Given the description of an element on the screen output the (x, y) to click on. 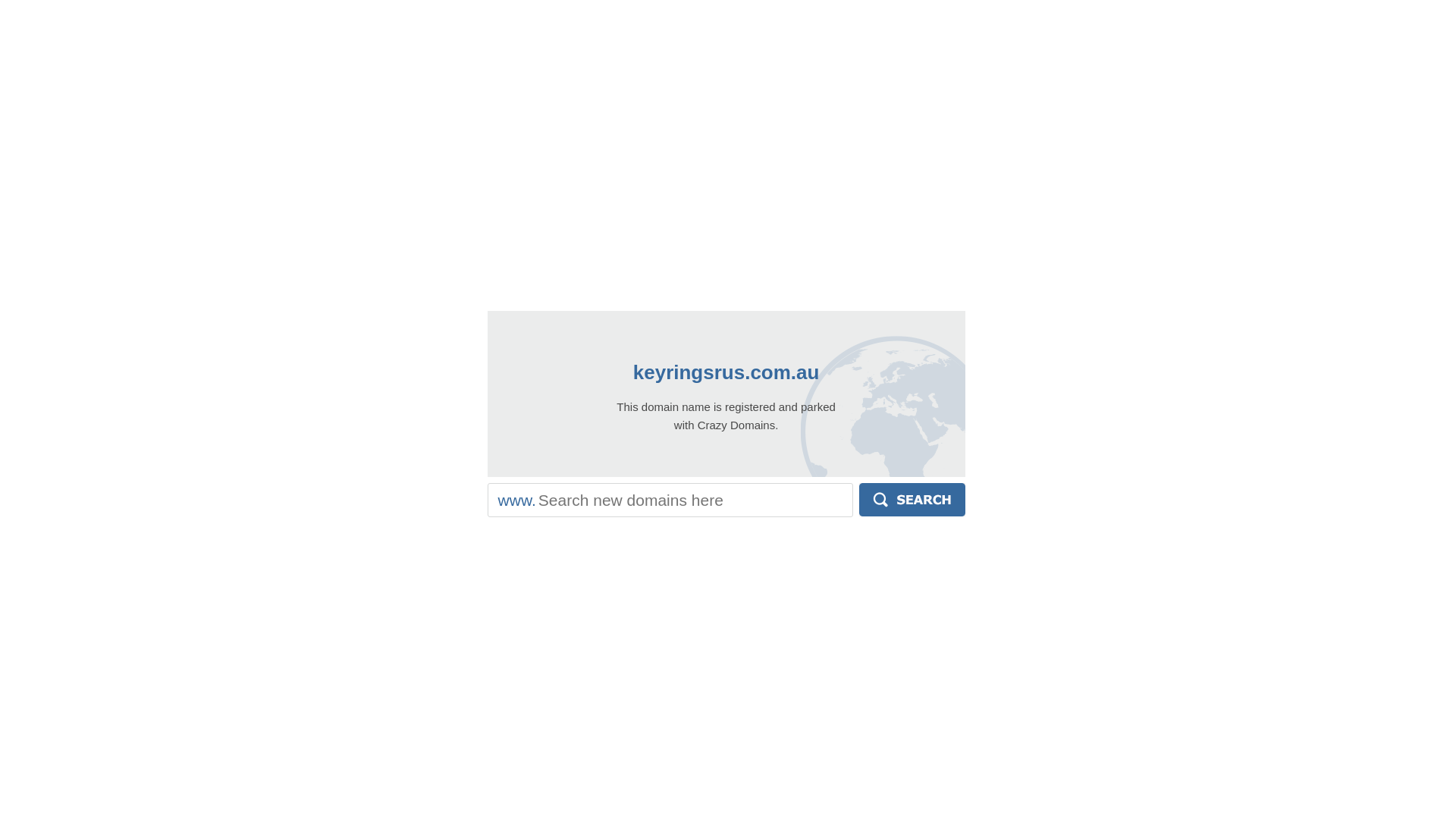
Search Element type: text (912, 499)
